Given the description of an element on the screen output the (x, y) to click on. 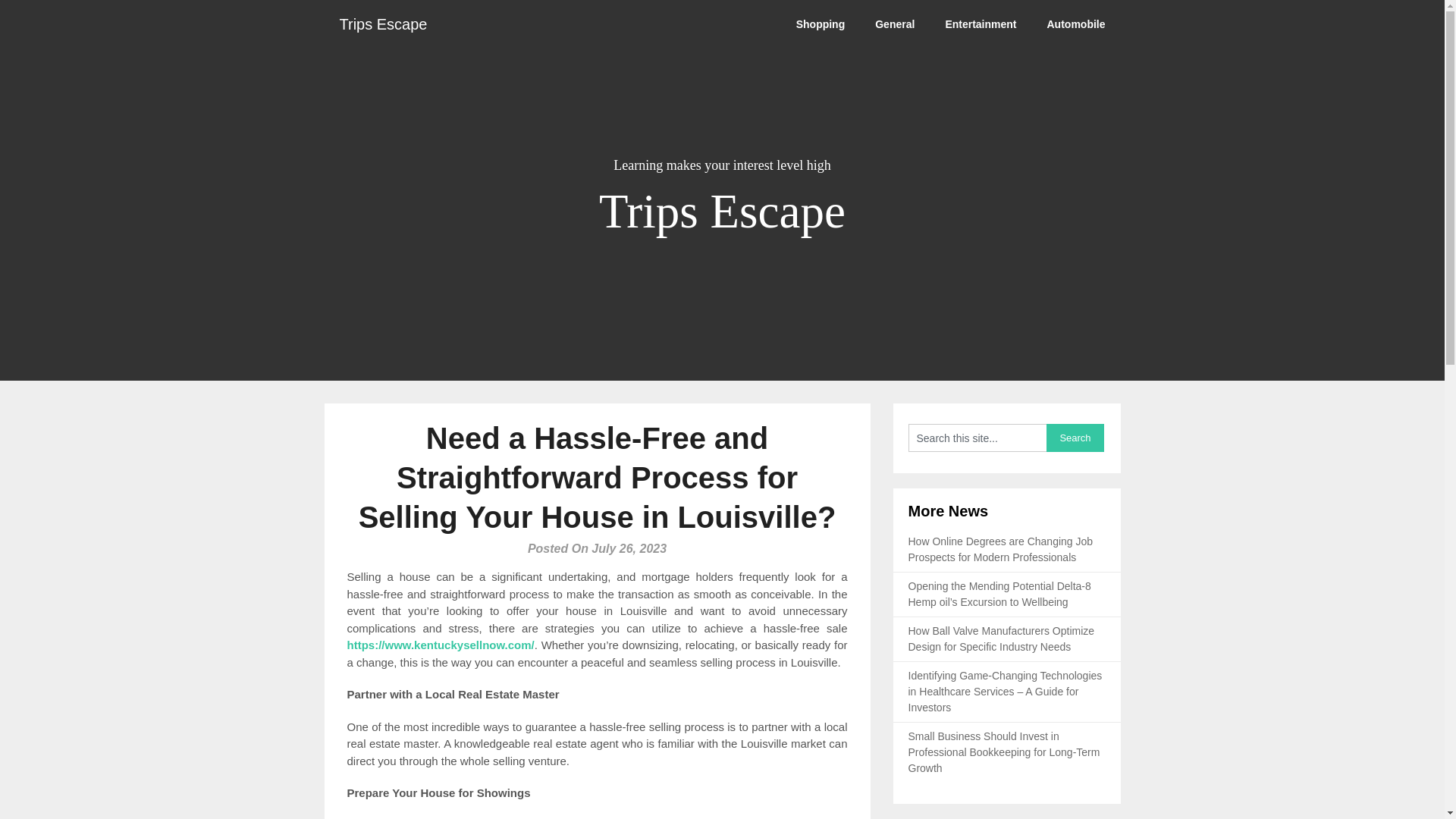
Search this site... (977, 438)
Trips Escape (383, 24)
Automobile (1074, 24)
Search (1075, 438)
General (895, 24)
Shopping (820, 24)
Search (1075, 438)
